Given the description of an element on the screen output the (x, y) to click on. 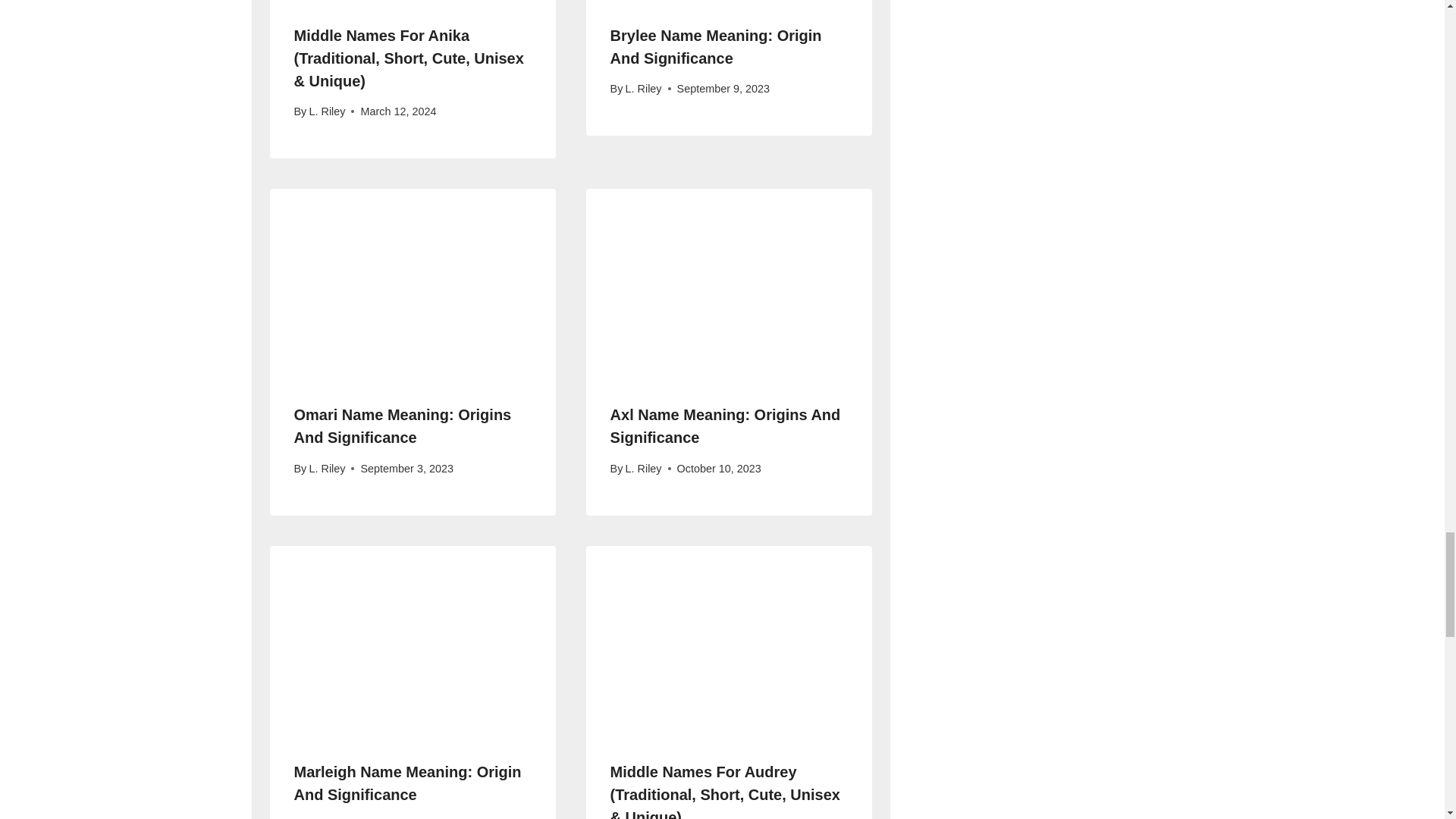
Axl Name Meaning: Origins and Significance 5 (729, 284)
L. Riley (644, 88)
Omari Name Meaning: Origins and Significance 4 (412, 284)
L. Riley (326, 468)
Marleigh Name Meaning: Origin and Significance 6 (412, 641)
L. Riley (326, 111)
Omari Name Meaning: Origins And Significance (403, 425)
Brylee Name Meaning: Origin And Significance (716, 46)
